Given the description of an element on the screen output the (x, y) to click on. 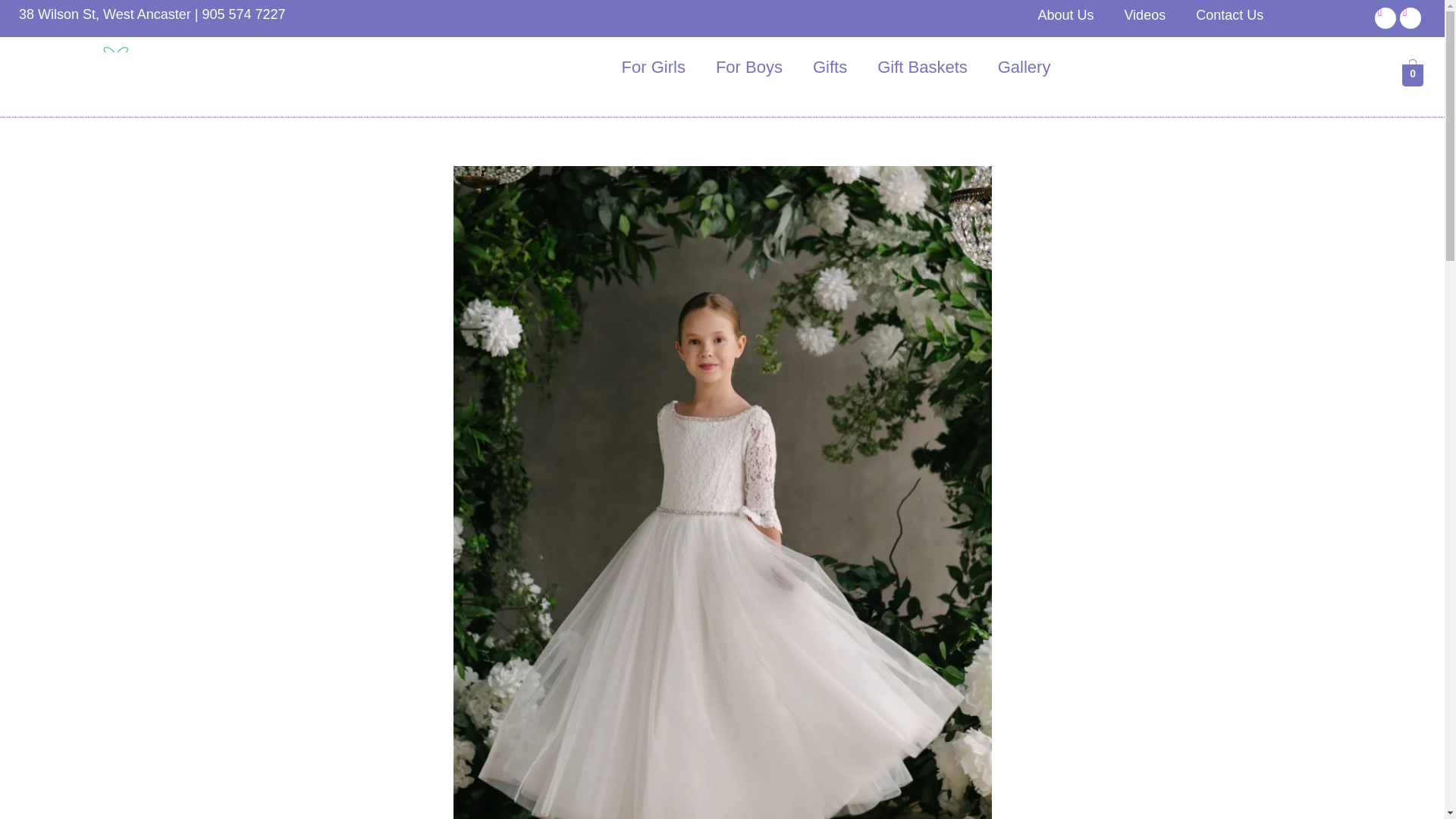
Gallery (1023, 67)
Instagram (1410, 17)
View your shopping cart (1412, 74)
Facebook (1385, 17)
For Boys (748, 67)
About Us (1065, 14)
Contact Us (1229, 14)
Gift Baskets (921, 67)
Videos (1144, 14)
For Girls (653, 67)
